Given the description of an element on the screen output the (x, y) to click on. 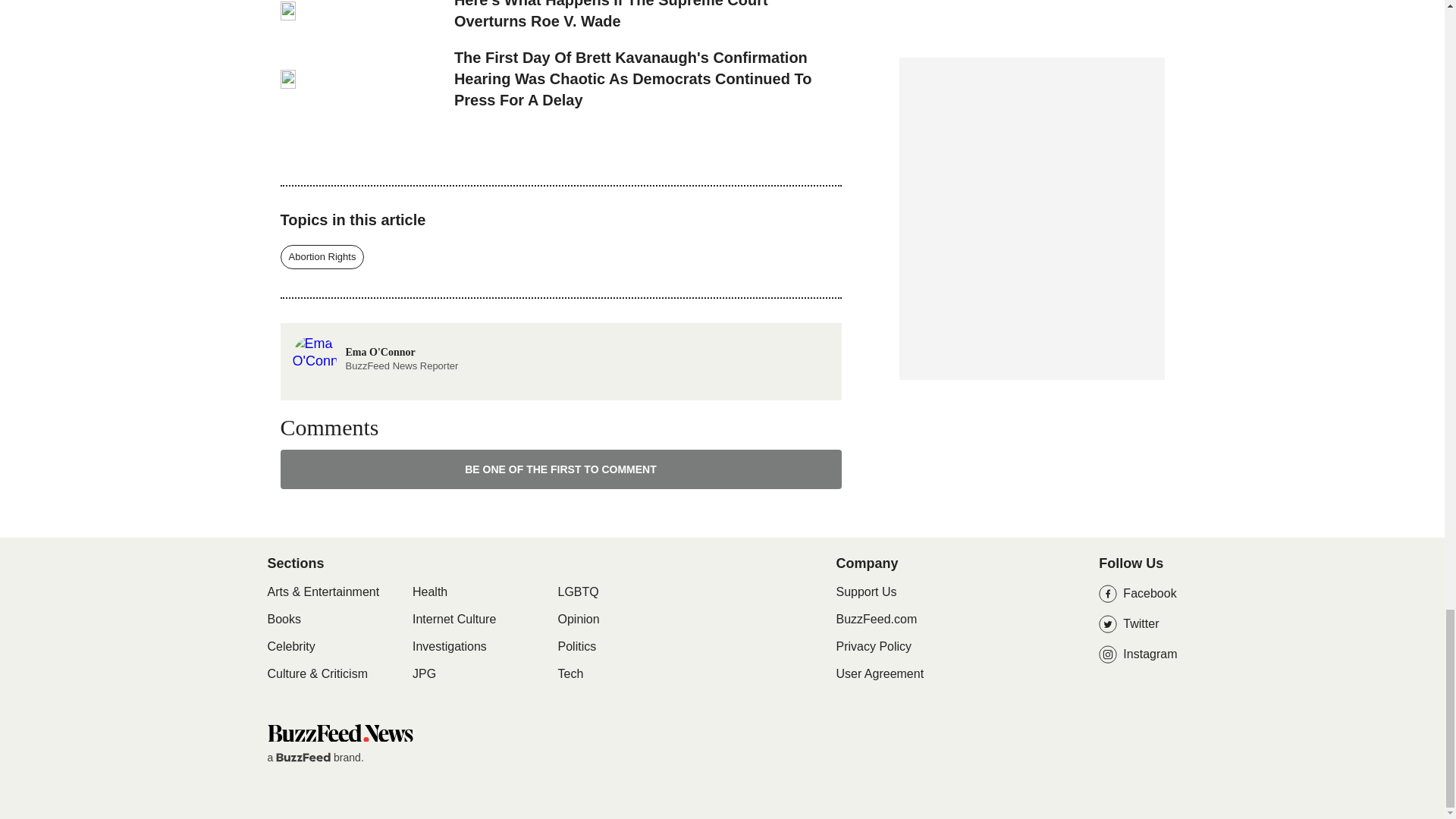
Books (282, 618)
BuzzFeed (303, 757)
BE ONE OF THE FIRST TO COMMENT (561, 468)
BuzzFeed News Home (339, 732)
Abortion Rights (323, 256)
Celebrity (375, 343)
